Given the description of an element on the screen output the (x, y) to click on. 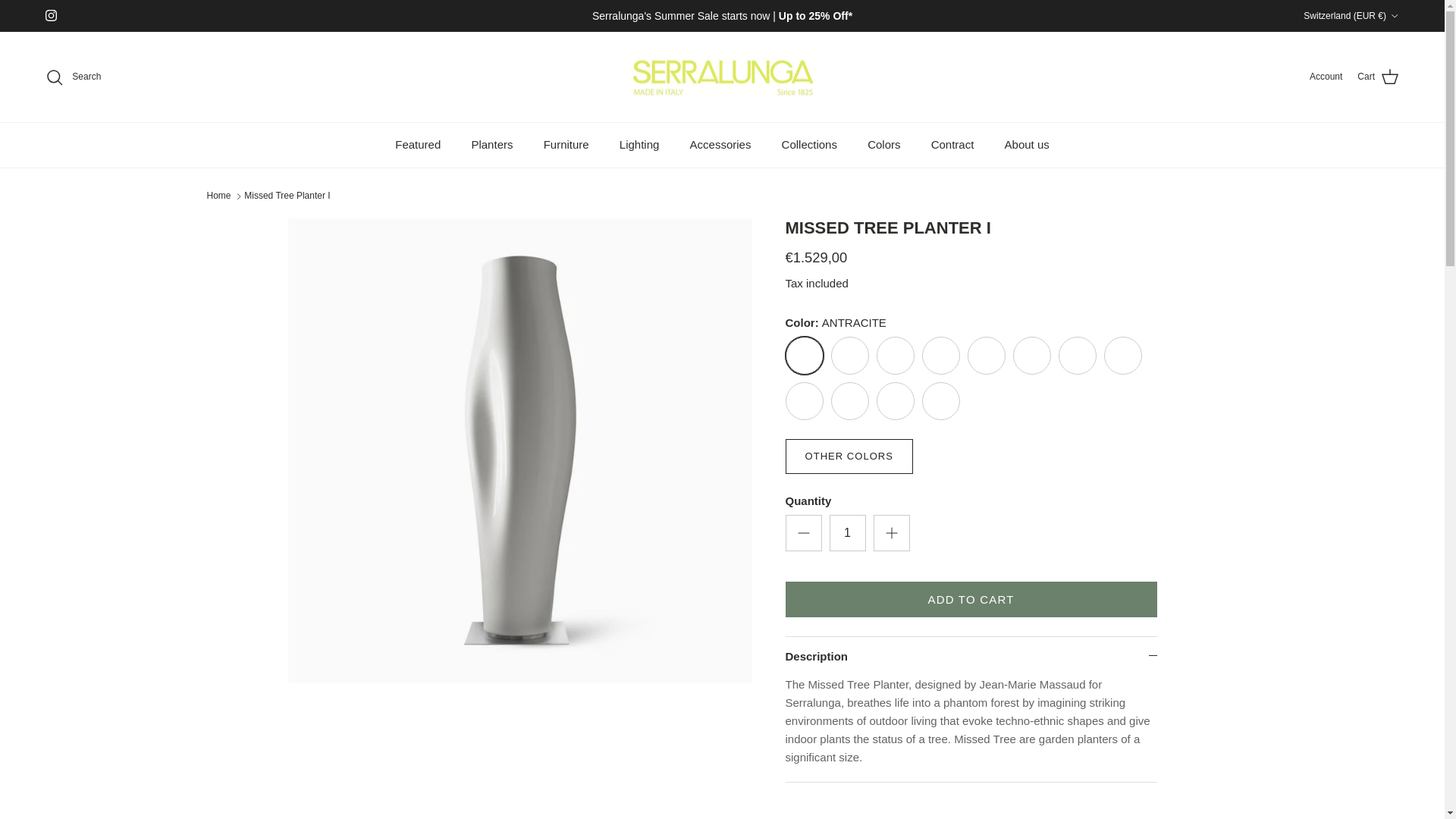
Planters (491, 144)
1 (847, 533)
Account (1325, 76)
Instagram (50, 15)
Search (72, 76)
Featured (417, 144)
Furniture (565, 144)
Serralunga  (721, 76)
Serralunga  on Instagram (50, 15)
Cart (1377, 76)
